Given the description of an element on the screen output the (x, y) to click on. 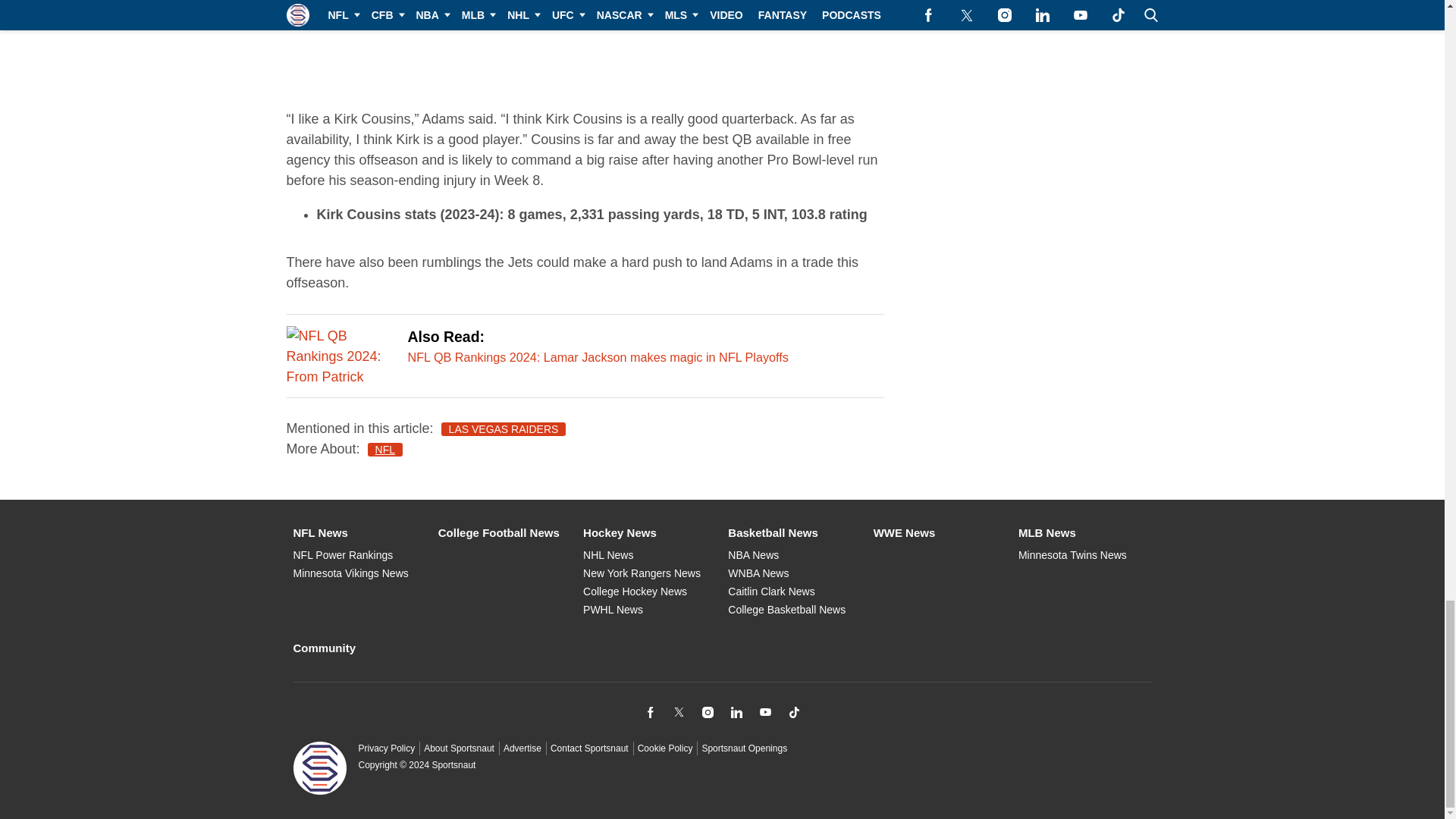
Connect with us on TikTok (794, 712)
Follow us on Instagram (707, 712)
Follow us on Facebook (650, 712)
Connect with us on LinkedIn (736, 712)
Follow us on Twitter (678, 712)
Subscribe to our YouTube channel (765, 712)
